Given the description of an element on the screen output the (x, y) to click on. 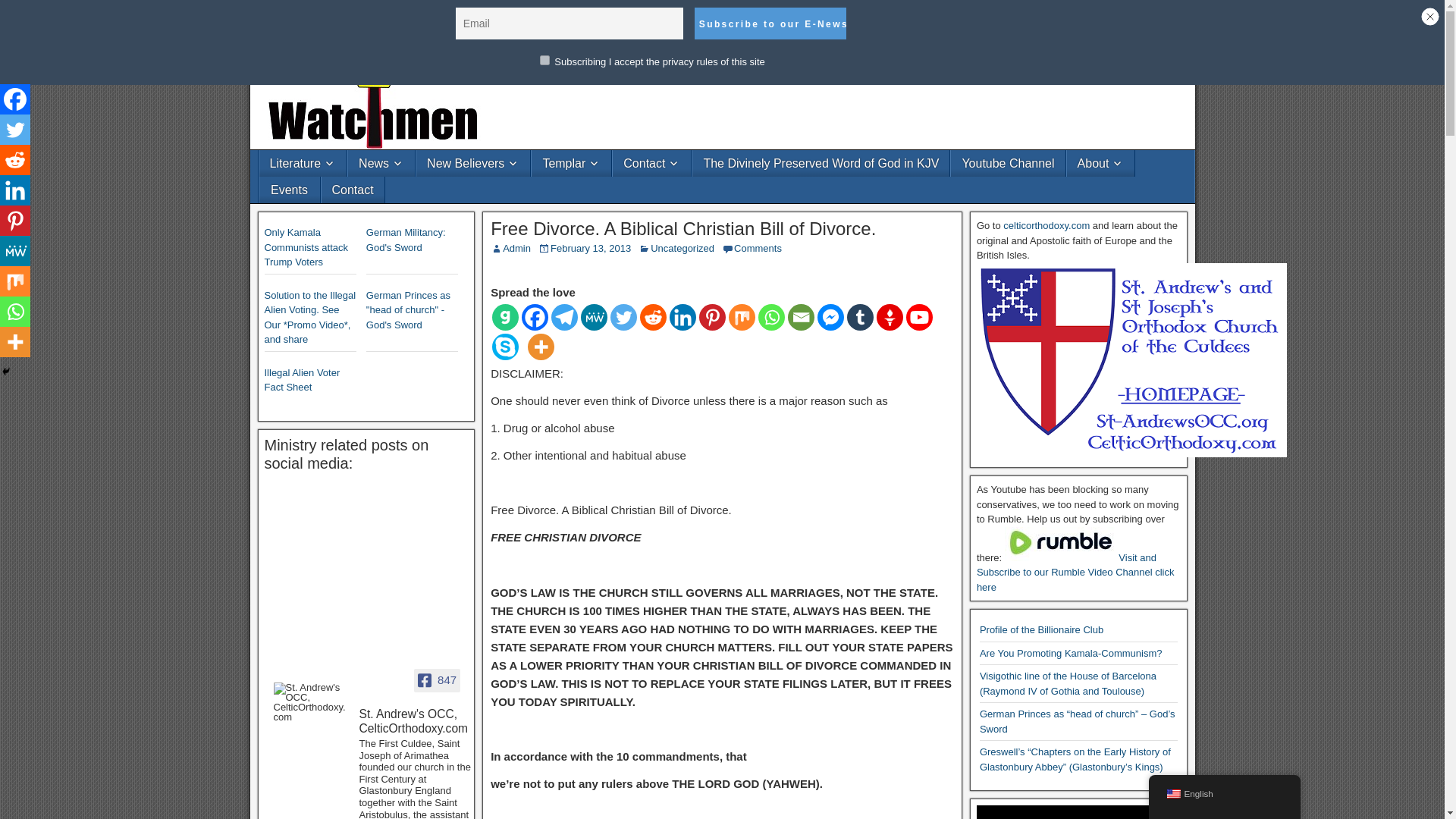
Subscribe to our E-Newsletter! (769, 23)
Tumblr (860, 316)
Twitter (623, 316)
on (545, 60)
Email (800, 316)
Gab (505, 316)
News (380, 162)
Whatsapp (771, 316)
Mix (742, 316)
MeWe (593, 316)
Youtube (919, 316)
Watchman News (309, 12)
Reddit (653, 316)
Facebook (534, 316)
Gettr (889, 316)
